Given the description of an element on the screen output the (x, y) to click on. 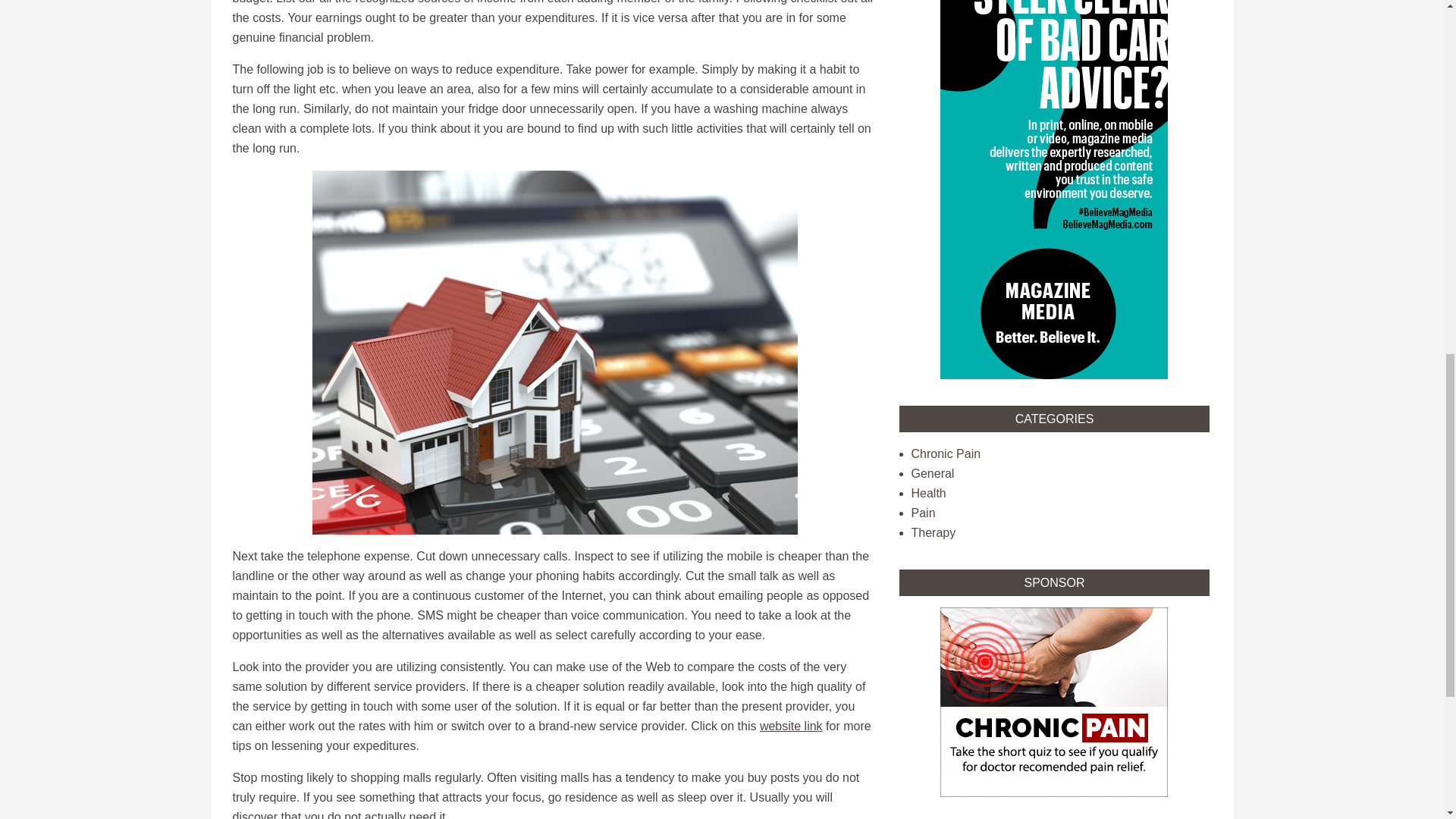
Therapy (933, 532)
Chronic Pain (946, 453)
Health (928, 492)
website link (791, 725)
General (933, 472)
Pain (923, 512)
